Given the description of an element on the screen output the (x, y) to click on. 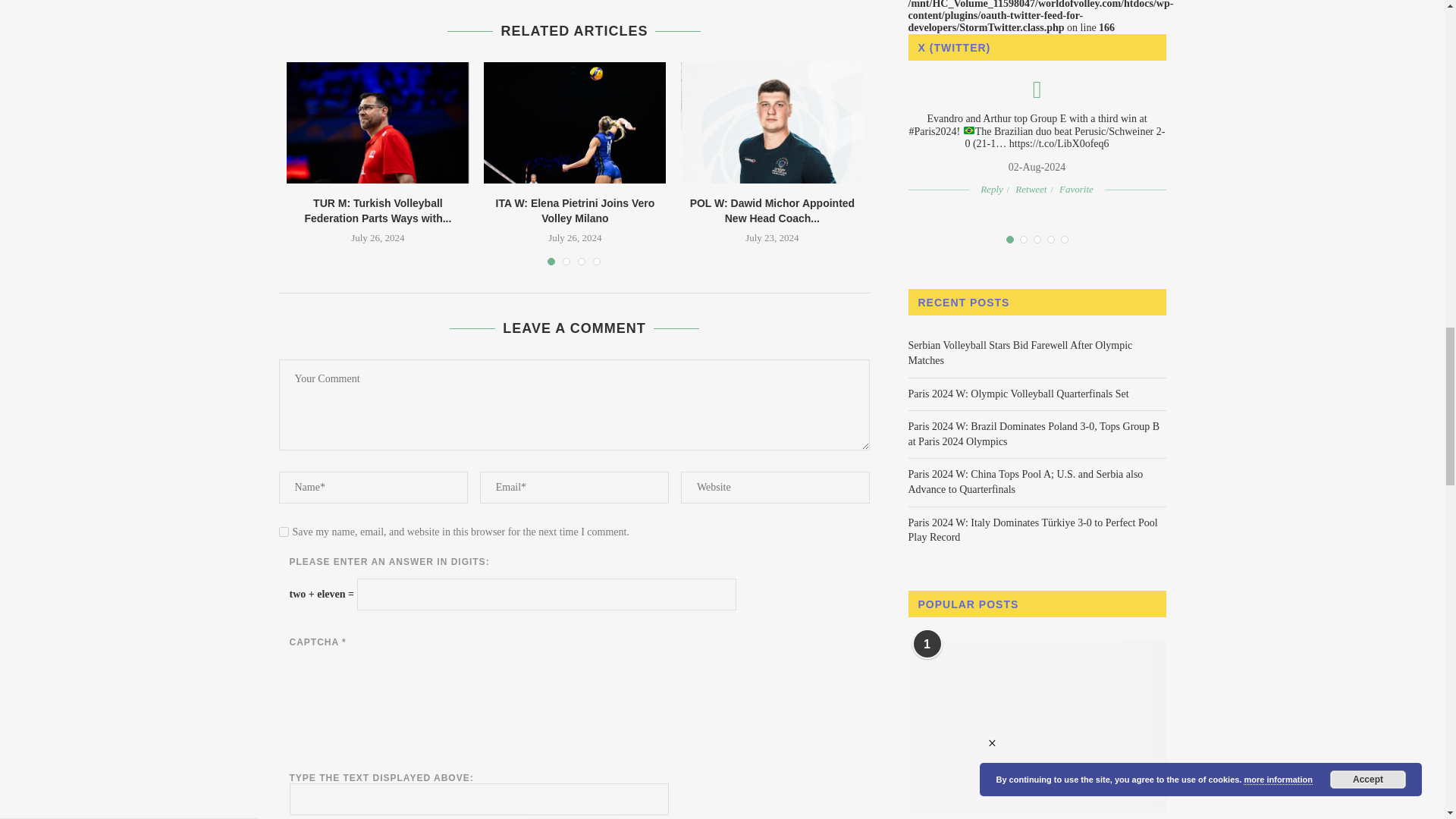
yes (283, 532)
ITA W: Elena Pietrini Joins Vero Volley Milano (574, 122)
Submit (574, 816)
